Given the description of an element on the screen output the (x, y) to click on. 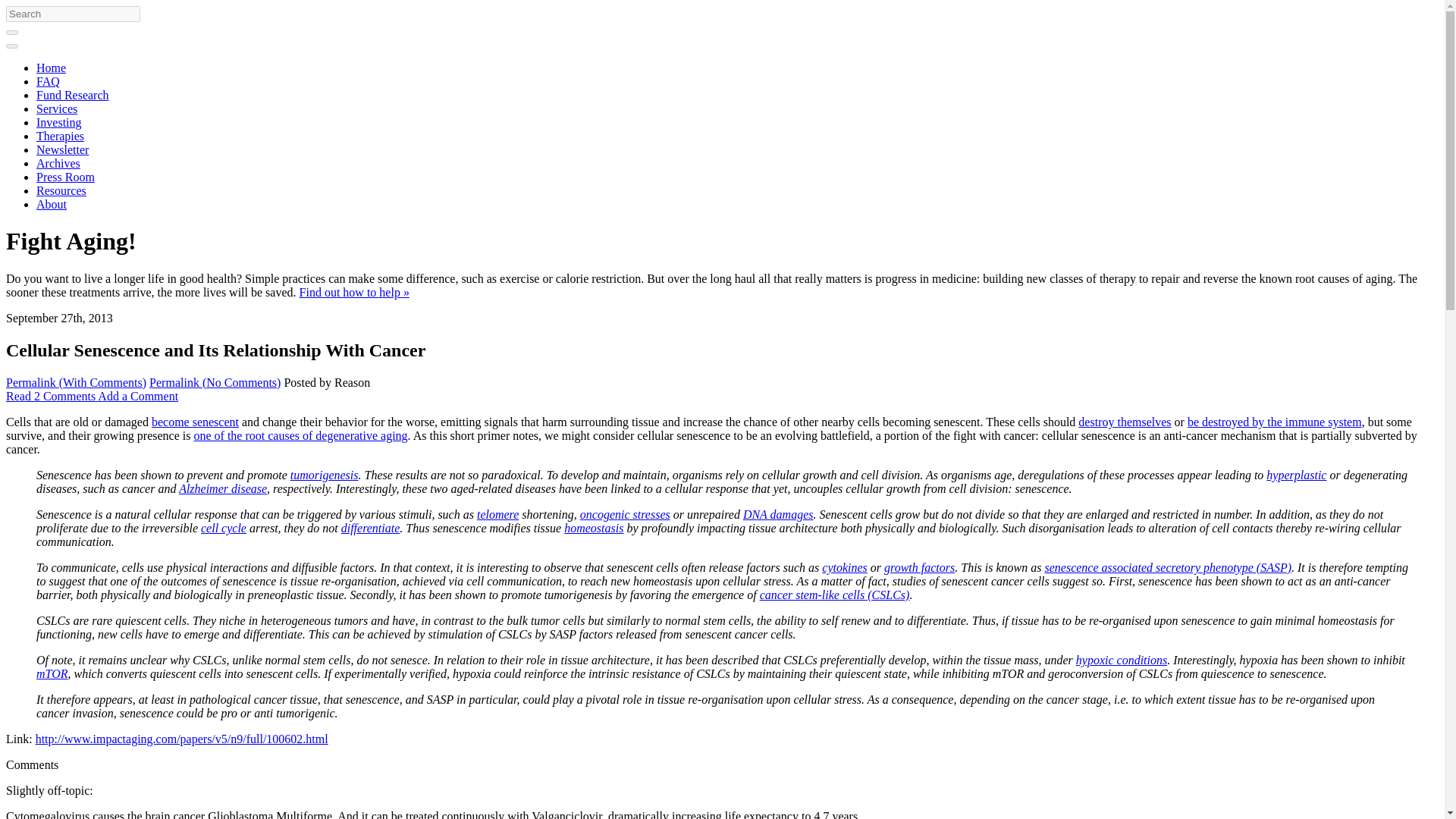
Investing (58, 122)
Archives (58, 163)
differentiate (370, 527)
hyperplastic (1296, 474)
cytokines (844, 567)
About (51, 204)
Press Room (65, 176)
Newsletter (62, 149)
Services (56, 108)
become senescent (194, 421)
one of the root causes of degenerative aging (300, 435)
Resources (60, 190)
DNA damages (777, 513)
homeostasis (593, 527)
FAQ (47, 81)
